Given the description of an element on the screen output the (x, y) to click on. 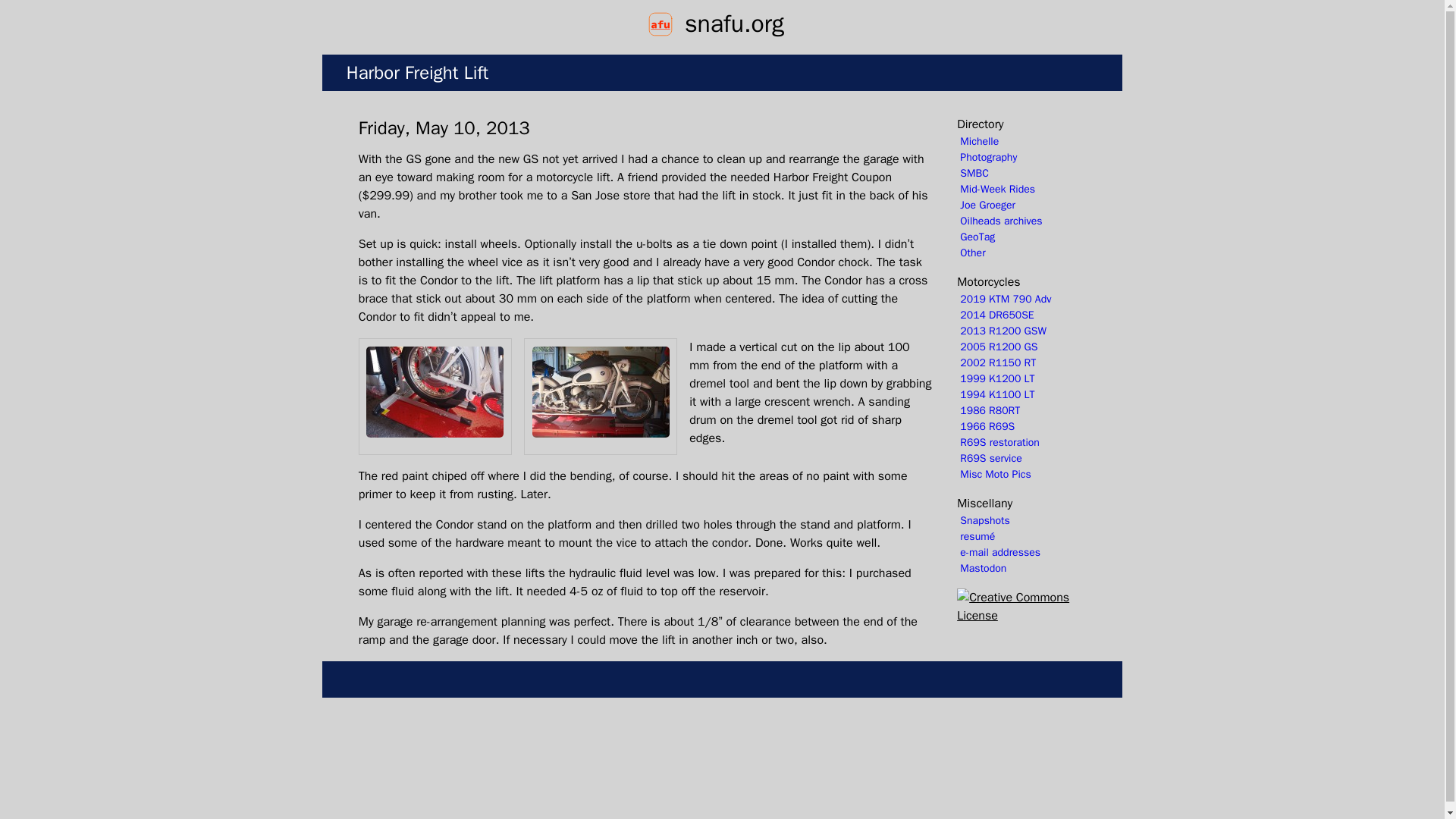
Keeping the old bike serviced (1021, 458)
Michelle's home page (1021, 141)
Motorcycle related picture pages (1021, 474)
Digital photograph geolocation tagging software for OS X (1021, 236)
2002 R1150 RT (1021, 362)
Marc's vintage bike (1021, 426)
Marc's first Beemer (1021, 410)
e-mail addresses (1021, 552)
Oilheads archives (1021, 220)
2013 R1200 GSW (1021, 330)
